Given the description of an element on the screen output the (x, y) to click on. 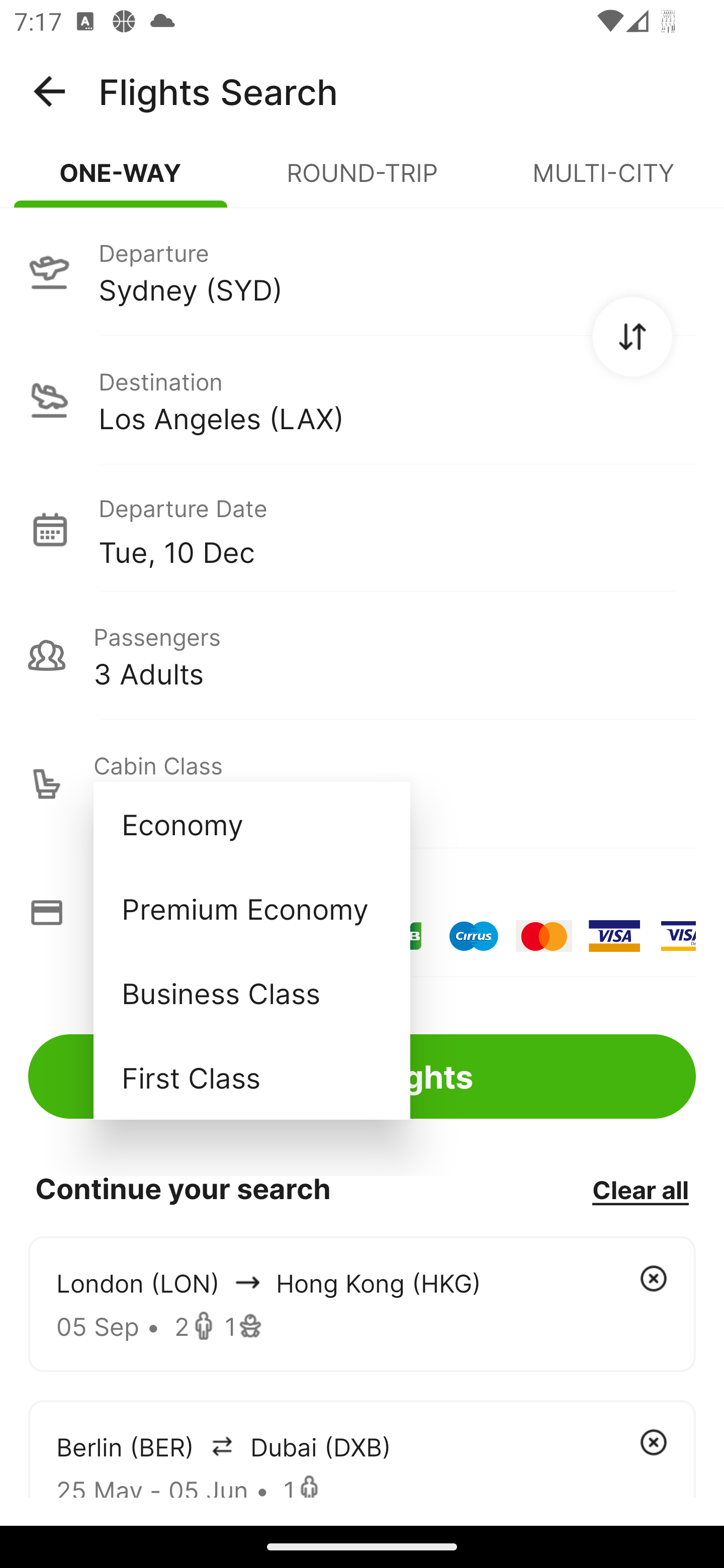
Economy (251, 824)
Premium Economy (251, 908)
Business Class (251, 992)
First Class (251, 1076)
